Given the description of an element on the screen output the (x, y) to click on. 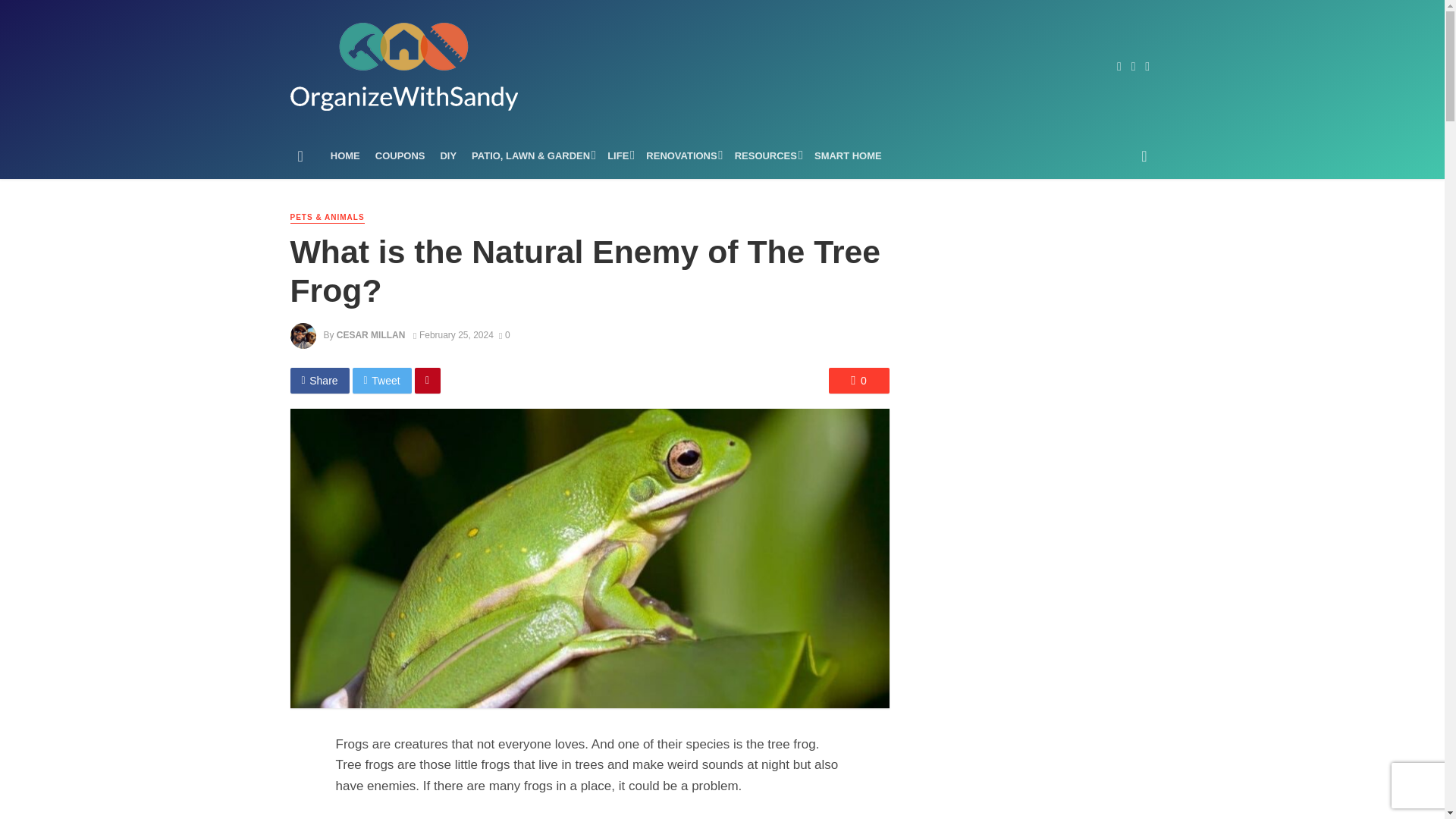
Posts by Cesar Millan (371, 335)
Share (319, 380)
COUPONS (400, 156)
0 (858, 380)
RESOURCES (766, 156)
RENOVATIONS (682, 156)
CESAR MILLAN (371, 335)
Tweet (382, 380)
February 25, 2024 at 9:50 am (453, 335)
SMART HOME (847, 156)
0 (505, 335)
HOME (345, 156)
0 Comments (505, 335)
